Given the description of an element on the screen output the (x, y) to click on. 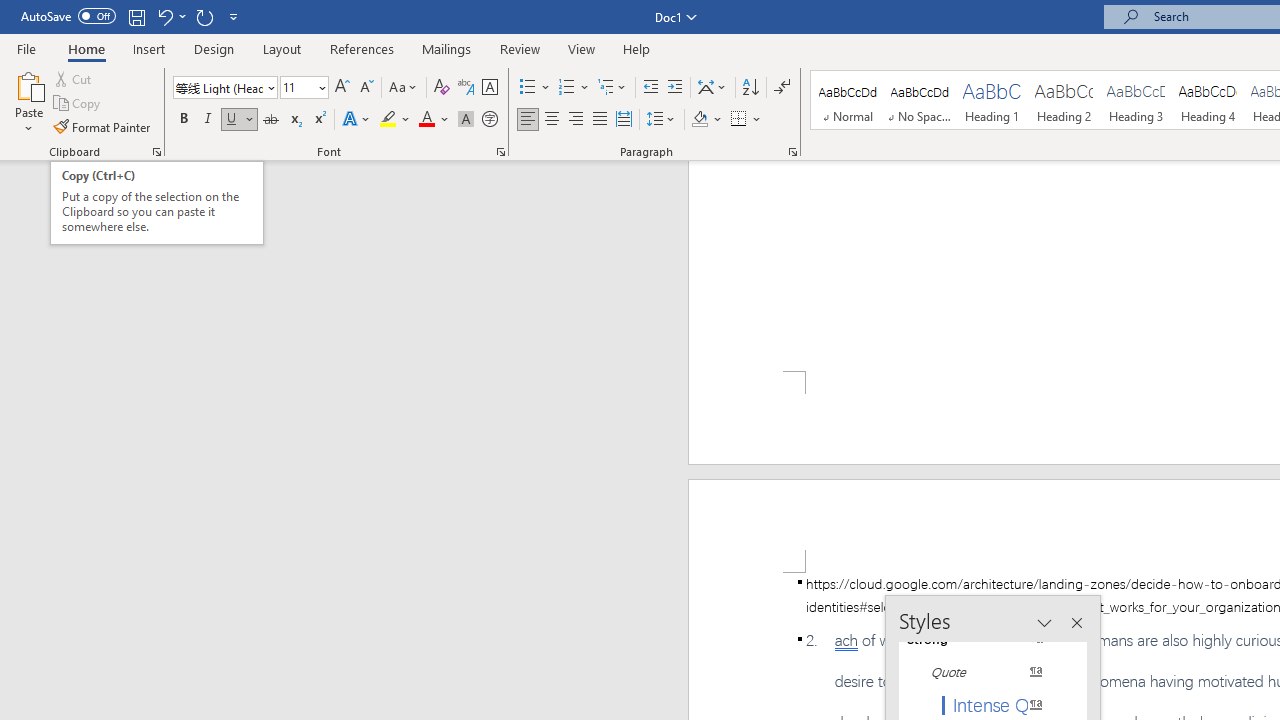
Heading 3 (1135, 100)
Undo Style (170, 15)
